Given the description of an element on the screen output the (x, y) to click on. 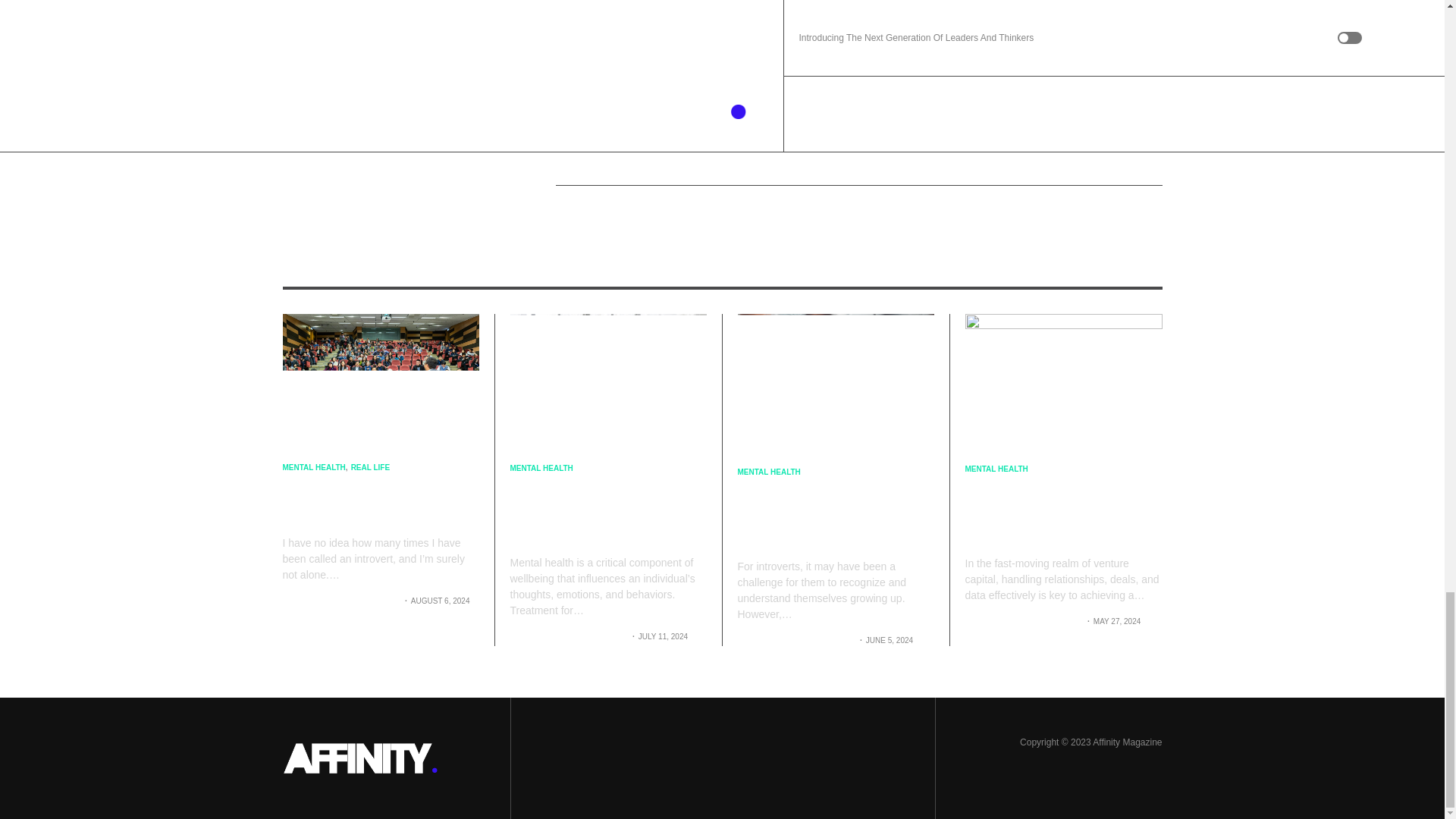
View all posts by Affinity Magazine Staff (567, 636)
View all posts by Affinity Magazine Staff (1022, 621)
View all posts by Affinity Magazine Staff (794, 640)
View all posts by Affinity Magazine Staff (340, 600)
